Given the description of an element on the screen output the (x, y) to click on. 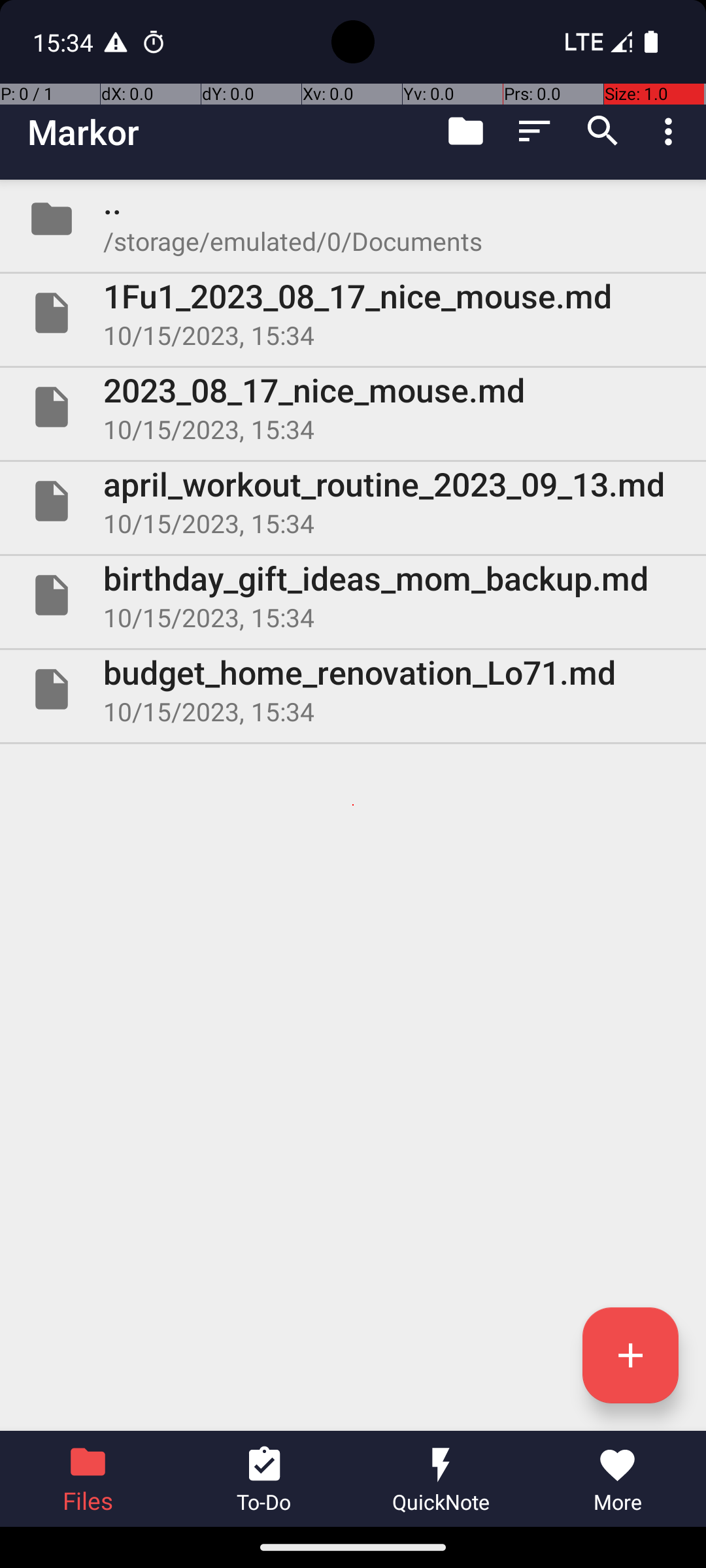
Create a new file or folder Element type: android.widget.ImageButton (630, 1355)
Go to Element type: android.widget.TextView (465, 131)
Folder ..  Element type: android.widget.LinearLayout (353, 218)
File 1Fu1_2023_08_17_nice_mouse.md  Element type: android.widget.LinearLayout (353, 312)
File 2023_08_17_nice_mouse.md  Element type: android.widget.LinearLayout (353, 406)
File april_workout_routine_2023_09_13.md  Element type: android.widget.LinearLayout (353, 500)
File birthday_gift_ideas_mom_backup.md  Element type: android.widget.LinearLayout (353, 594)
File budget_home_renovation_Lo71.md  Element type: android.widget.LinearLayout (353, 689)
